Given the description of an element on the screen output the (x, y) to click on. 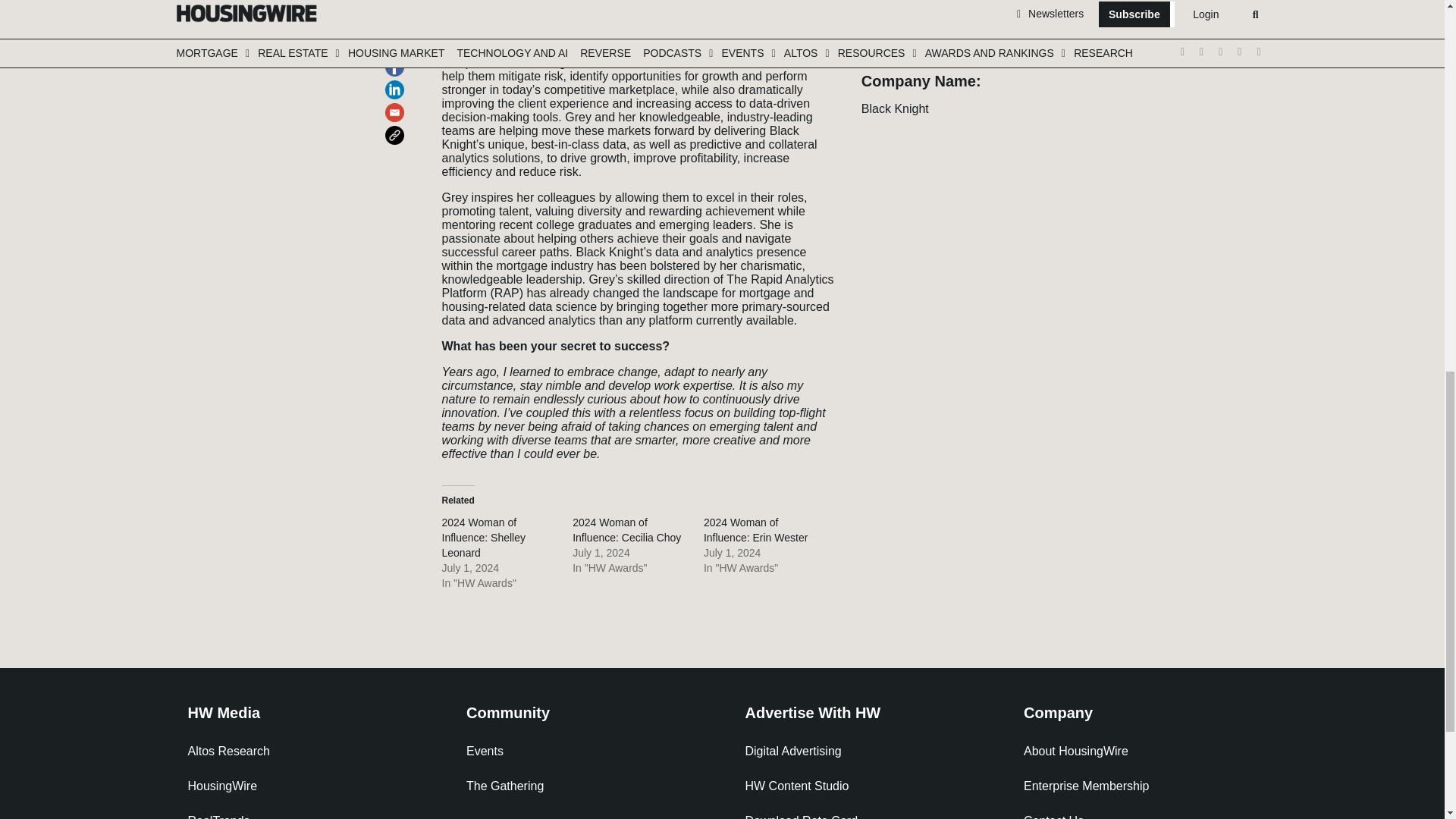
2024 Woman of Influence: Cecilia Choy (626, 529)
Click to email a link to a friend (398, 16)
2024 Woman of Influence: Shelley Leonard (483, 537)
2024 Woman of Influence: Erin Wester (755, 529)
Click to copy link (398, 39)
